Given the description of an element on the screen output the (x, y) to click on. 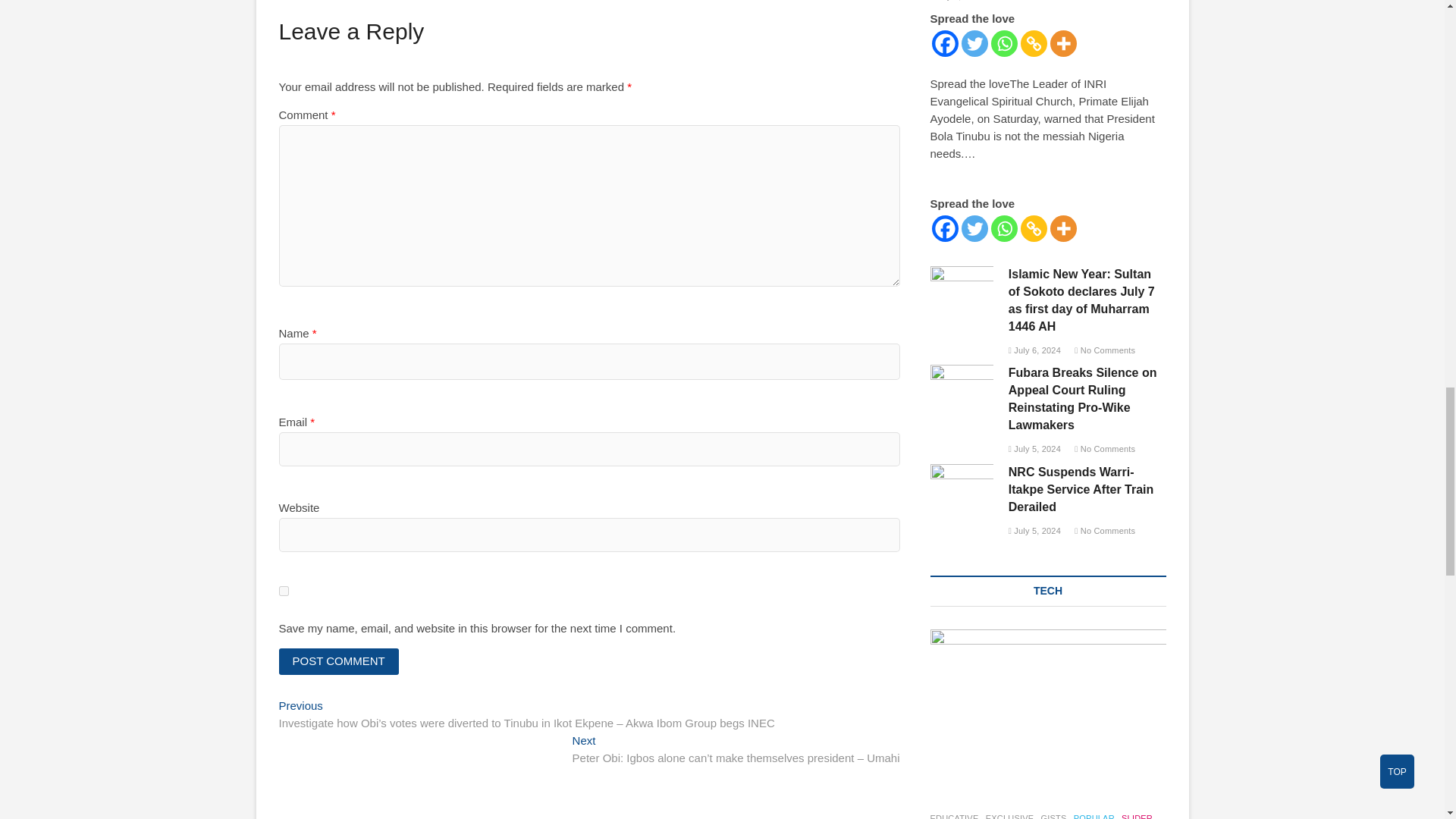
yes (283, 591)
Post Comment (338, 661)
